Given the description of an element on the screen output the (x, y) to click on. 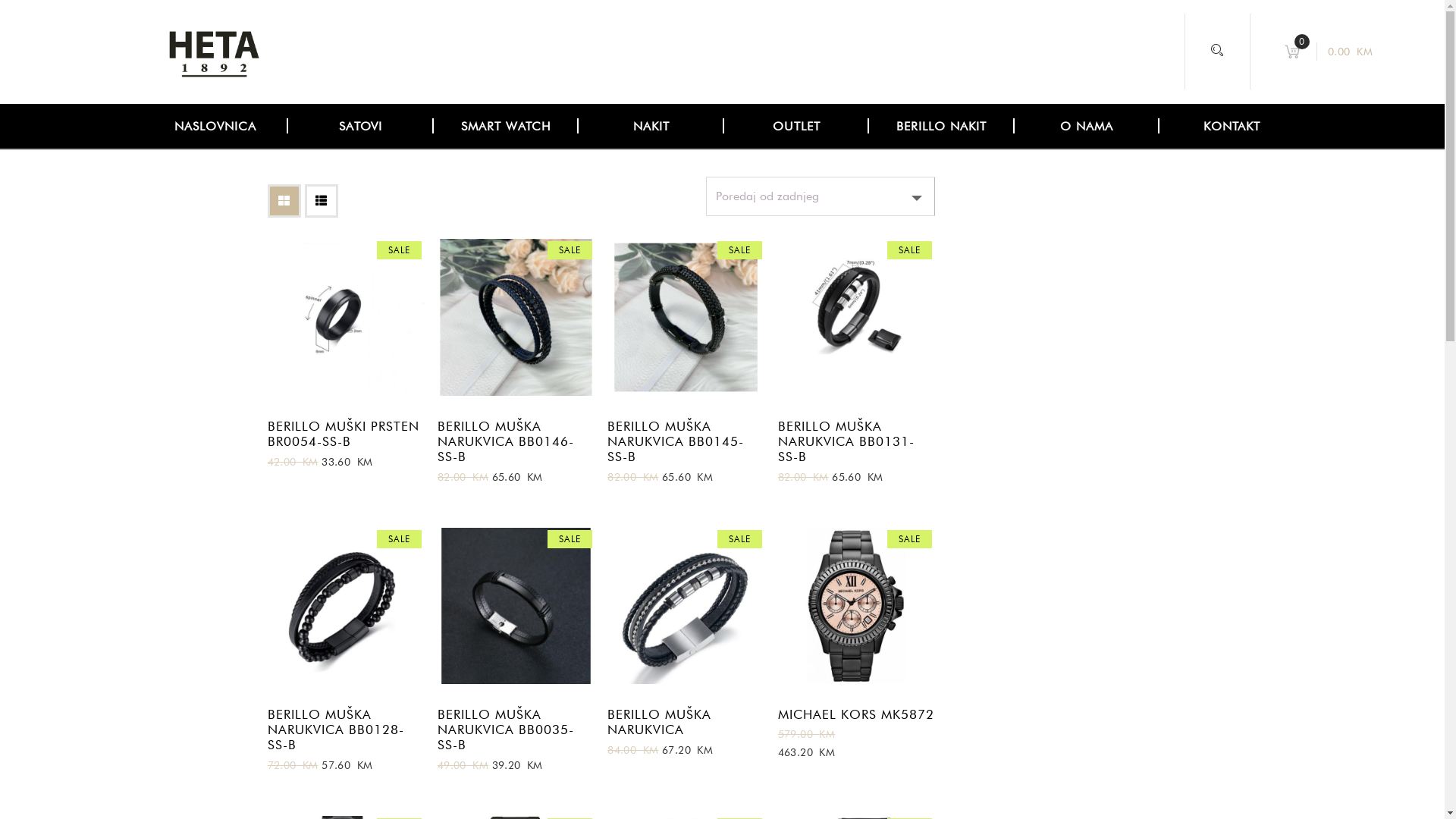
SMART WATCH Element type: text (506, 126)
NASLOVNICA Element type: text (215, 126)
O NAMA Element type: text (1087, 126)
Go Element type: text (1046, 410)
0
0.00 KM Element type: text (1329, 51)
OUTLET Element type: text (795, 126)
NAKIT Element type: text (651, 126)
MICHAEL KORS MK5872 Element type: text (856, 710)
List view Element type: hover (321, 200)
SATOVI Element type: text (360, 126)
MICHAEL KORS MK5872 Element type: hover (856, 605)
Grid view Element type: hover (283, 200)
BERILLO NAKIT Element type: text (941, 126)
KONTAKT Element type: text (1232, 126)
